Given the description of an element on the screen output the (x, y) to click on. 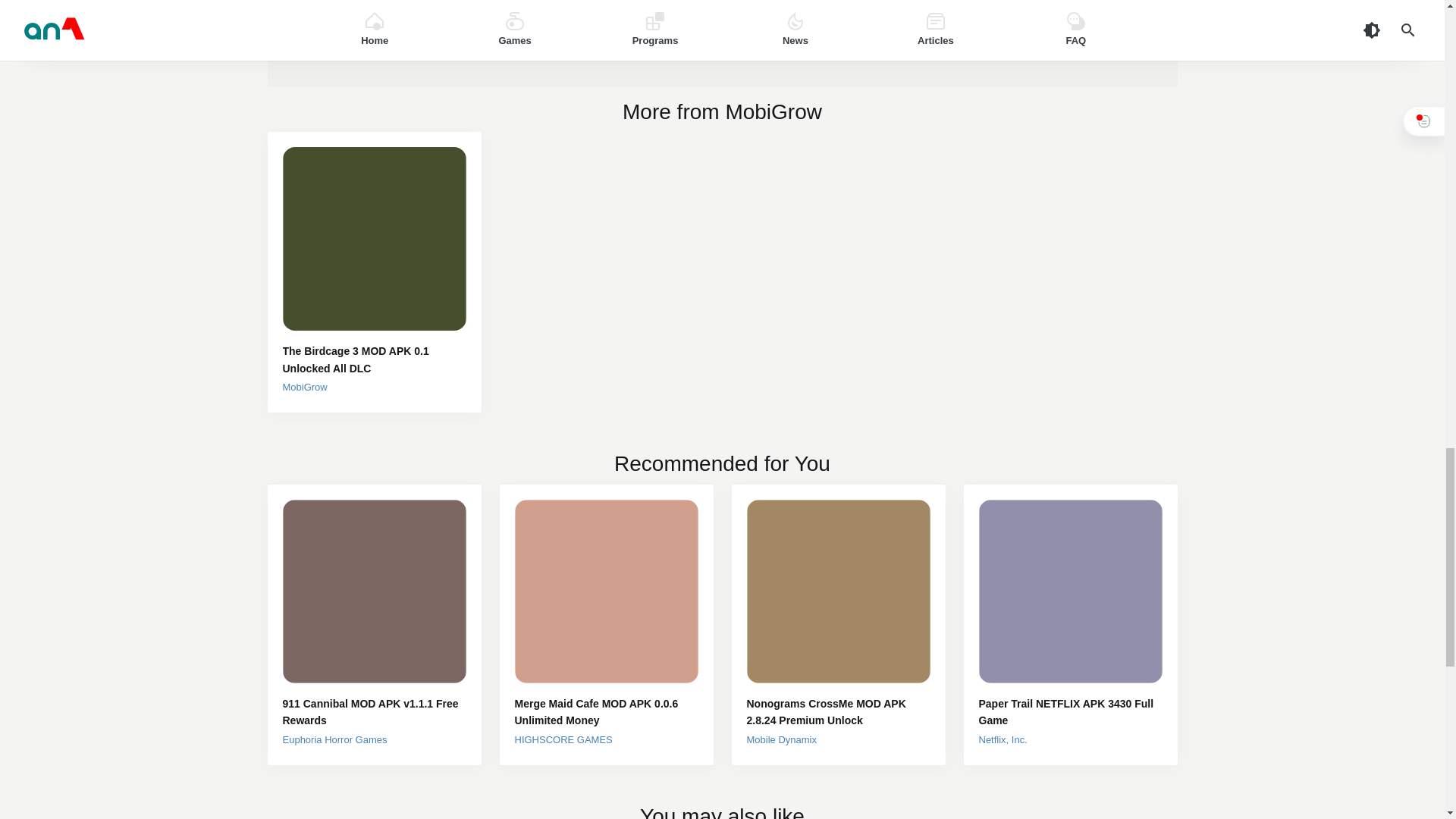
Merge Maid Cafe MOD APK 0.0.6 Unlimited Money (605, 712)
Package Name (490, 12)
Paper Trail NETFLIX APK 3430 Full Game (1069, 712)
Nonograms CrossMe MOD APK 2.8.24 Premium Unlock (837, 712)
The Birdcage 2 (370, 12)
911 Cannibal MOD APK v1.1.1 Free Rewards (373, 712)
The Birdcage 3 MOD APK 0.1 Unlocked All DLC (373, 359)
